Given the description of an element on the screen output the (x, y) to click on. 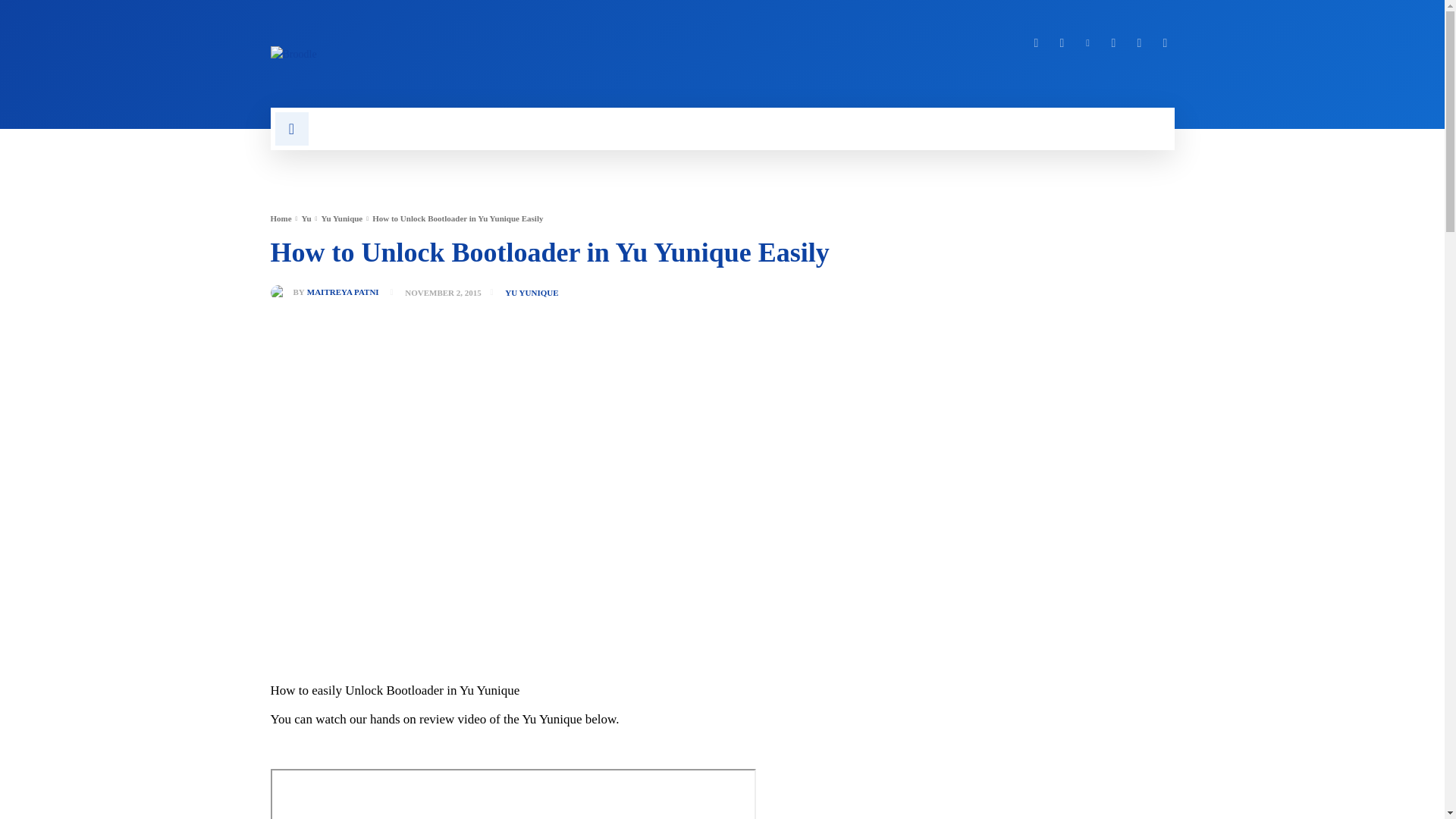
Linkedin (1087, 43)
Broodle (486, 53)
Broodle (292, 53)
Instagram (1061, 43)
Facebook (1035, 43)
